Given the description of an element on the screen output the (x, y) to click on. 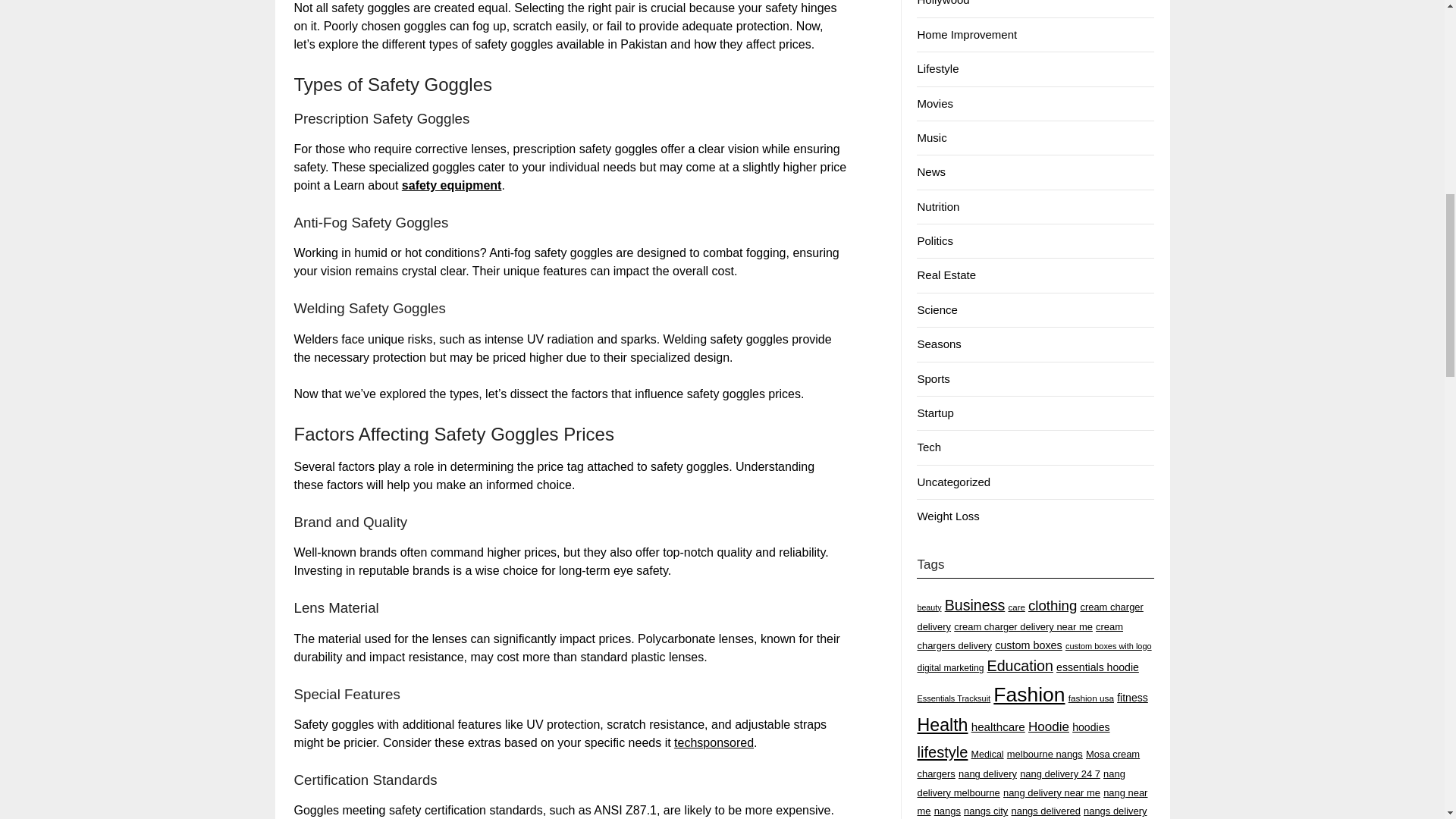
techsponsored (714, 742)
safety equipment (451, 185)
